Given the description of an element on the screen output the (x, y) to click on. 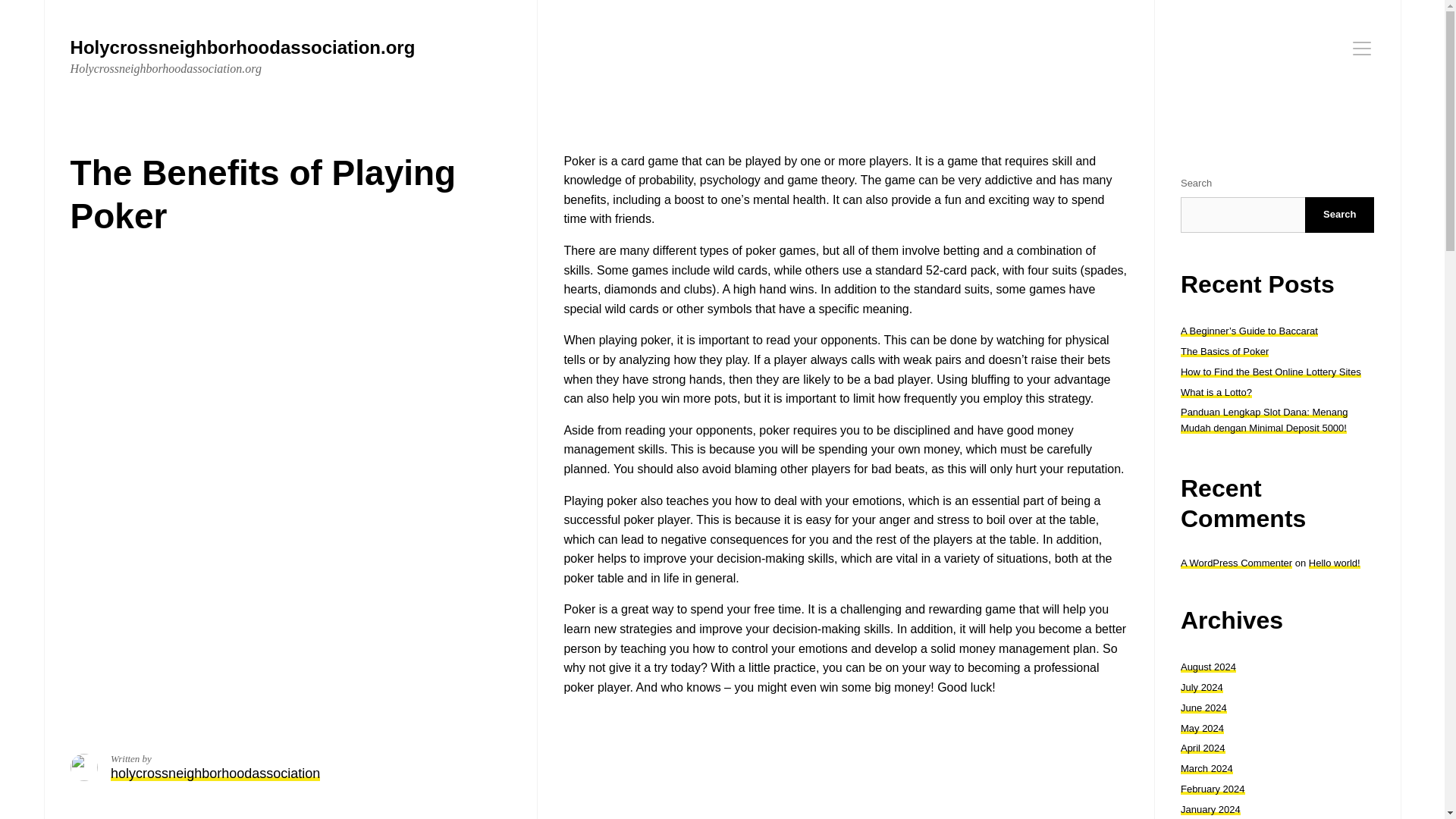
Hello world! (1333, 562)
March 2024 (1206, 767)
August 2024 (1208, 666)
holycrossneighborhoodassociation (215, 773)
June 2024 (1203, 707)
A WordPress Commenter (1236, 562)
Menu (1361, 48)
April 2024 (1202, 747)
What is a Lotto? (1216, 392)
